Given the description of an element on the screen output the (x, y) to click on. 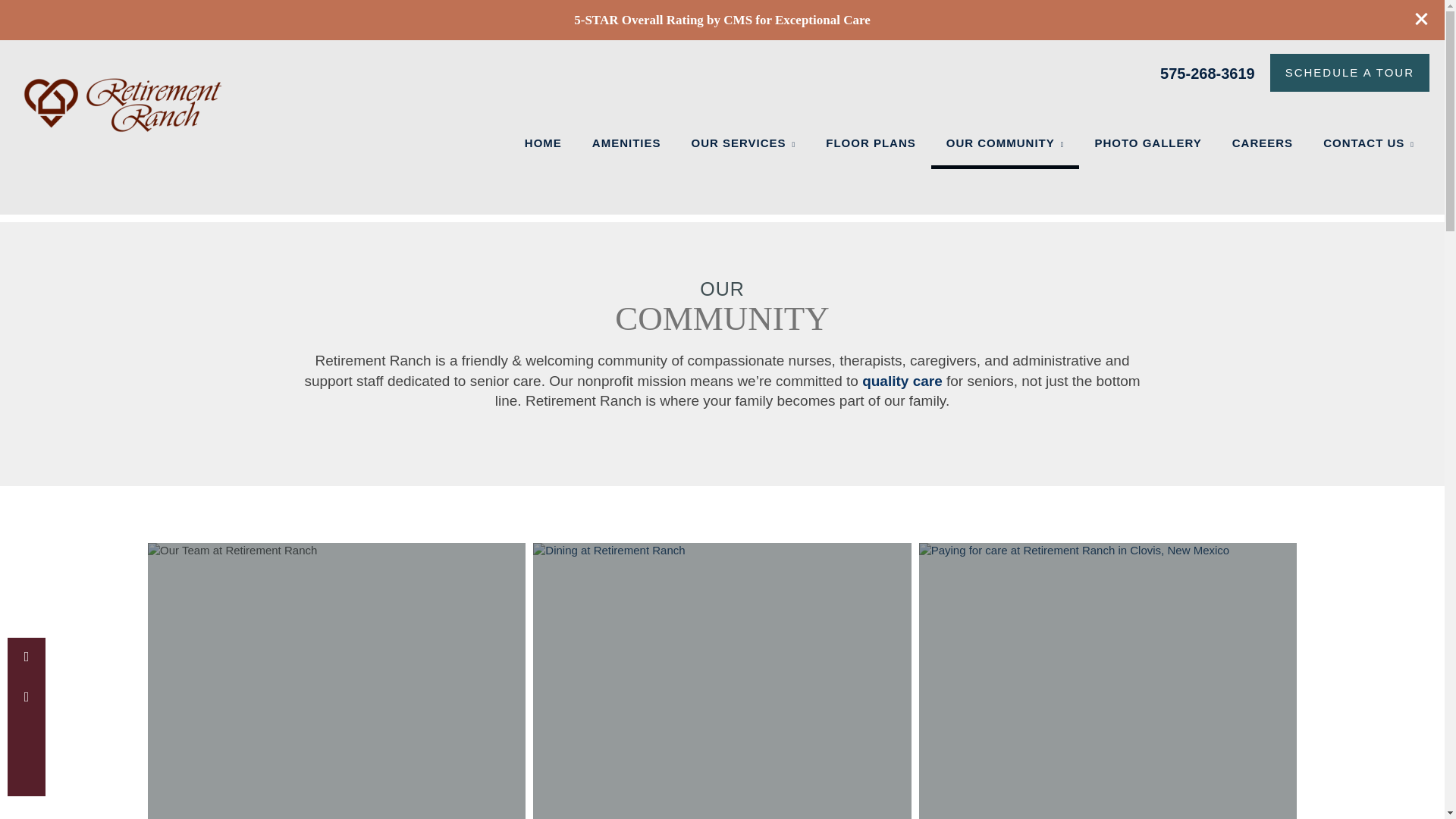
Phone Number (26, 656)
SCHEDULE A TOUR (1349, 72)
PHOTO GALLERY (1146, 142)
Email (26, 696)
AMENITIES (626, 142)
HOME (542, 142)
Scroll Up (26, 736)
quality care (901, 381)
PAYING FOR CARE (1107, 680)
CAREERS (1262, 142)
MEMORY CARE (752, 146)
575-268-3619 (1207, 72)
CONTACT US (1368, 142)
OUR SERVICES (743, 142)
OUR COMMUNITY (1005, 142)
